Given the description of an element on the screen output the (x, y) to click on. 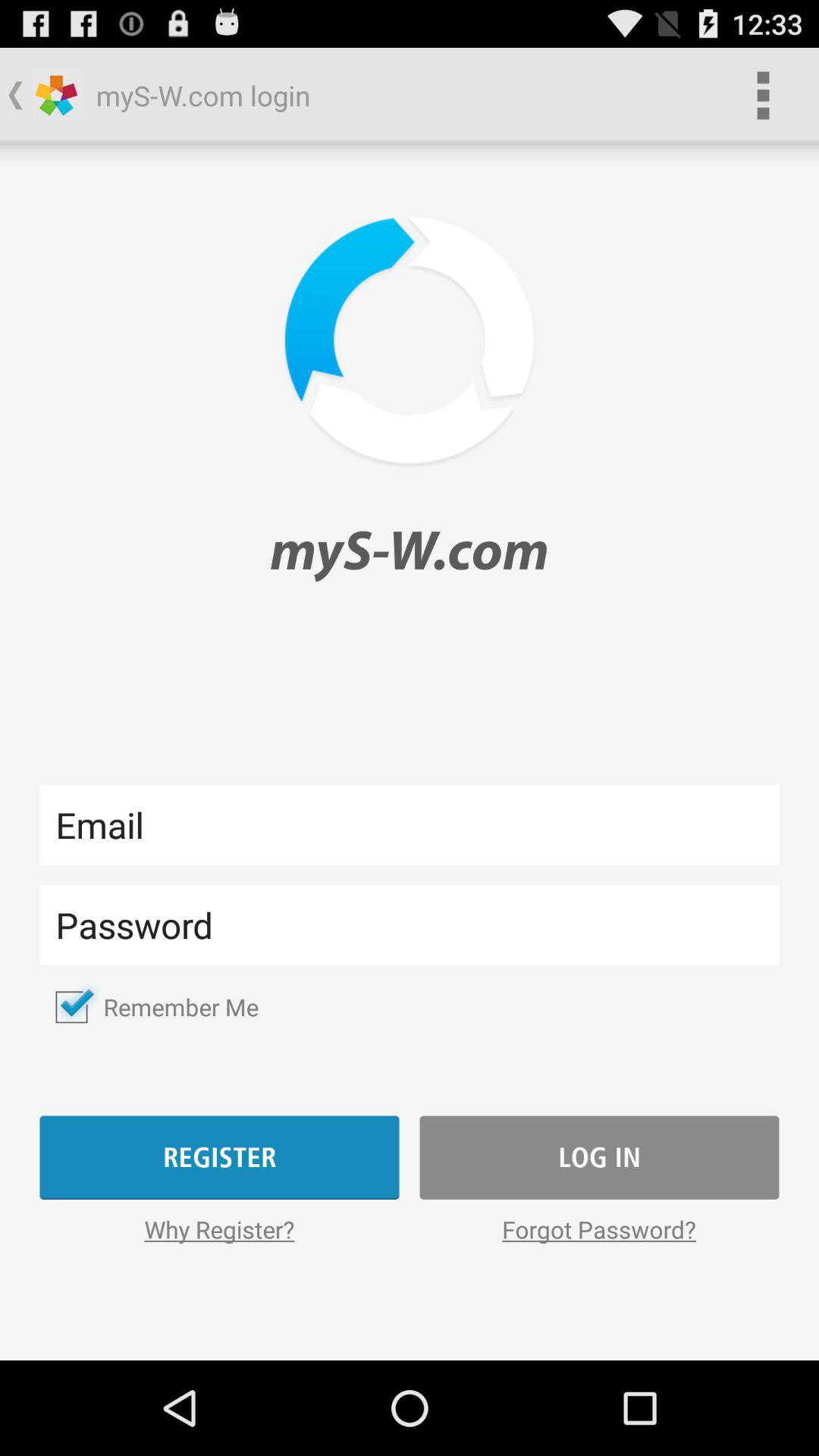
email textbox (409, 824)
